Given the description of an element on the screen output the (x, y) to click on. 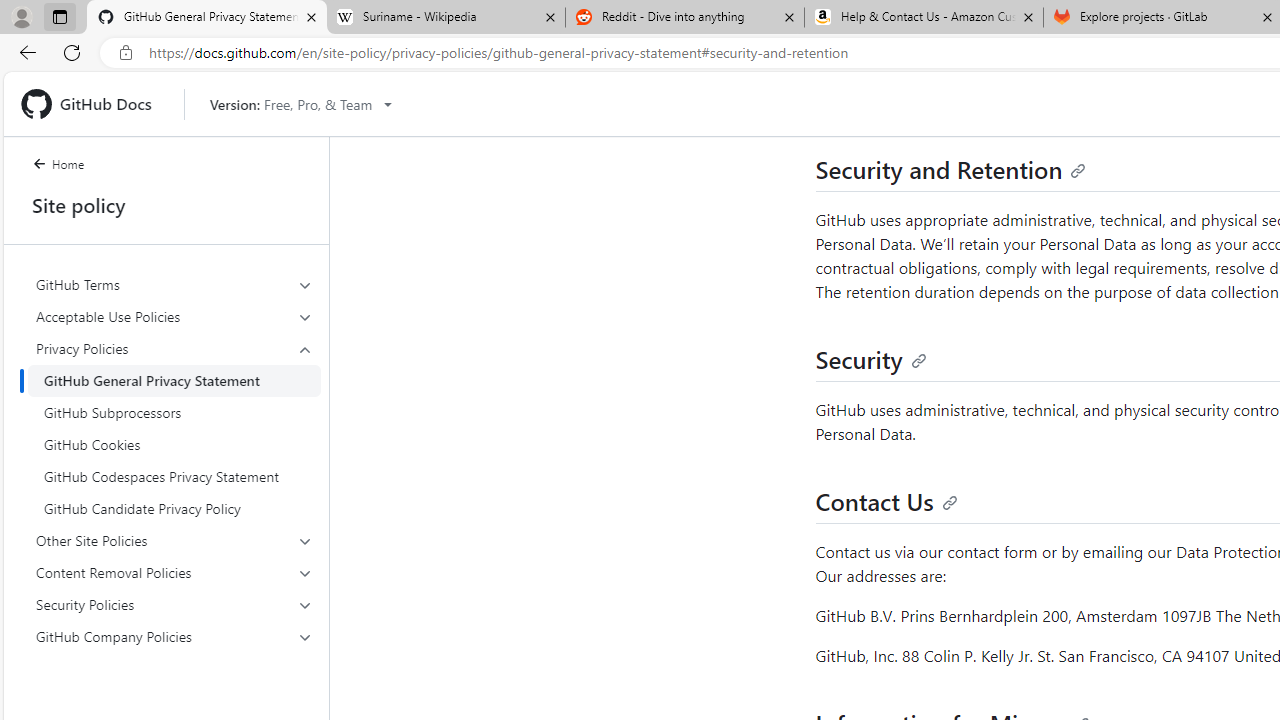
Site policy (166, 205)
GitHub Cookies (174, 444)
Other Site Policies (174, 540)
GitHub Terms (174, 284)
Content Removal Policies (174, 572)
GitHub Codespaces Privacy Statement (174, 476)
Security Policies (174, 604)
Security and Retention (950, 168)
Acceptable Use Policies (174, 316)
Security (870, 358)
GitHub Docs (93, 103)
Suriname - Wikipedia (445, 17)
GitHub General Privacy Statement - GitHub Docs (207, 17)
